Given the description of an element on the screen output the (x, y) to click on. 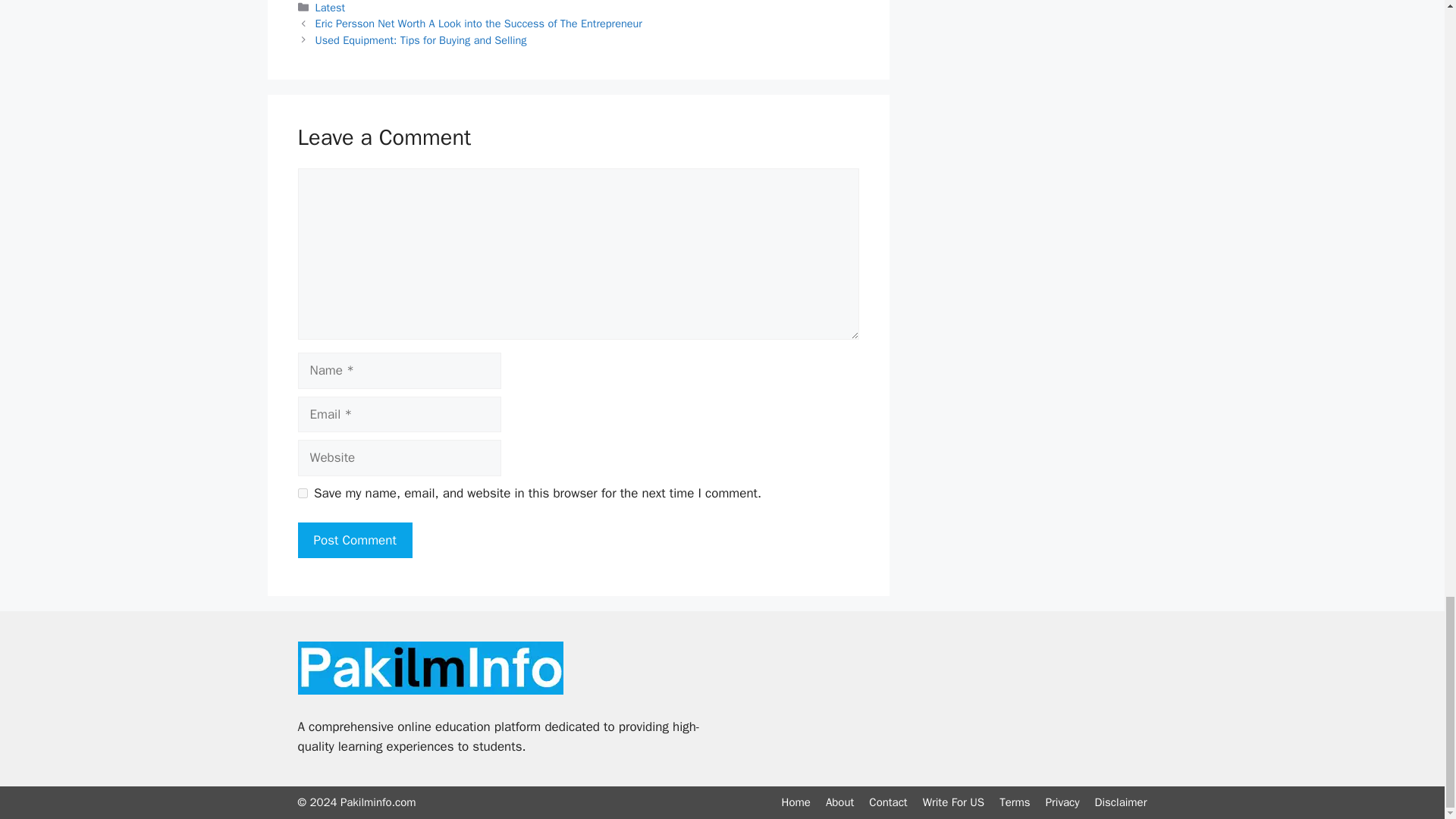
Used Equipment: Tips for Buying and Selling (421, 39)
Post Comment (354, 540)
yes (302, 492)
Latest (330, 7)
Post Comment (354, 540)
